Given the description of an element on the screen output the (x, y) to click on. 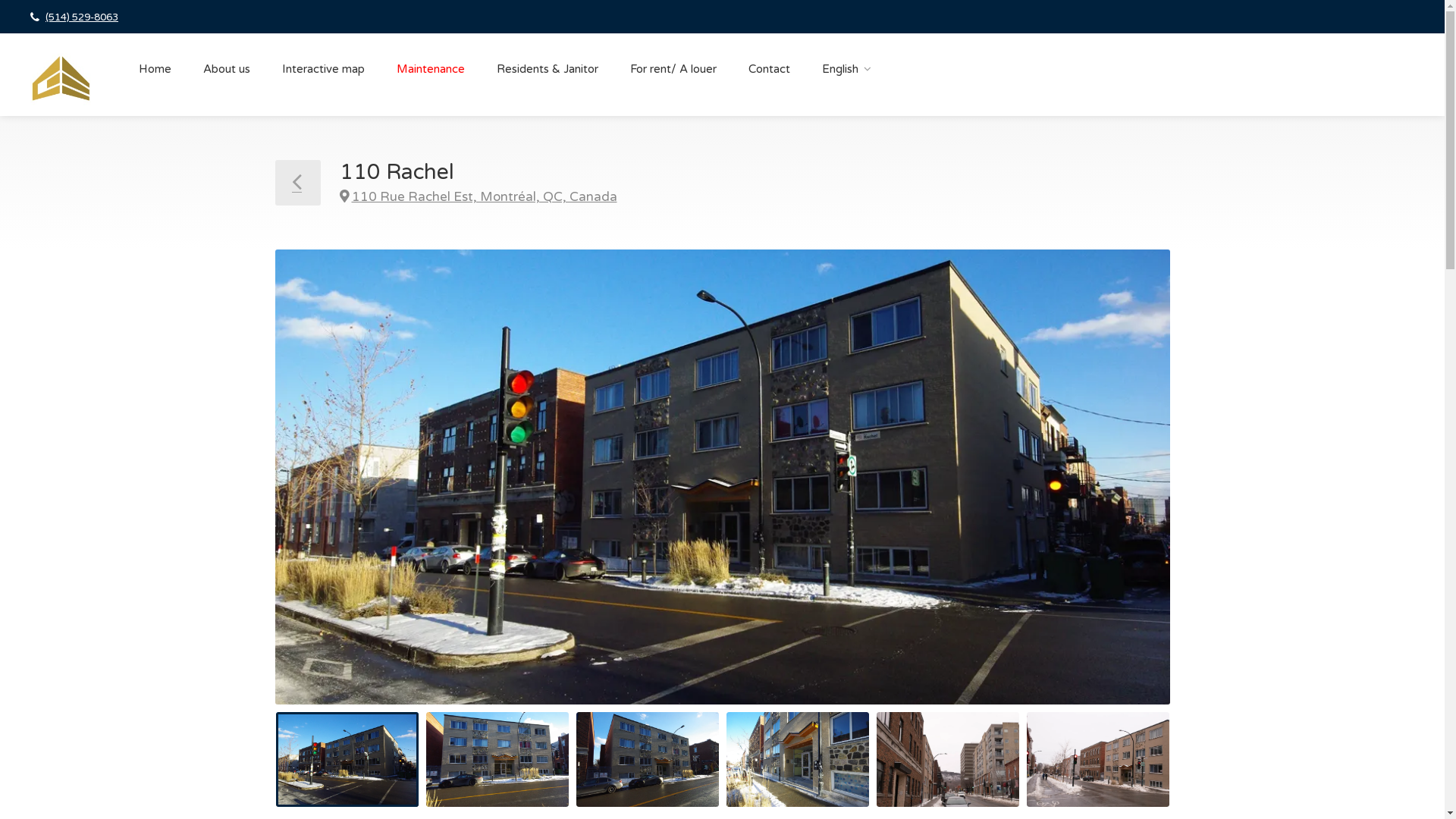
Interactive map Element type: text (322, 68)
About us Element type: text (226, 68)
Maintenance Element type: text (430, 68)
Contact Element type: text (769, 68)
Residents & Janitor Element type: text (547, 68)
Home Element type: text (154, 68)
(514) 529-8063 Element type: text (81, 17)
Capital Augusta Element type: hover (61, 77)
English Element type: text (846, 68)
For rent/ A louer Element type: text (673, 68)
